Given the description of an element on the screen output the (x, y) to click on. 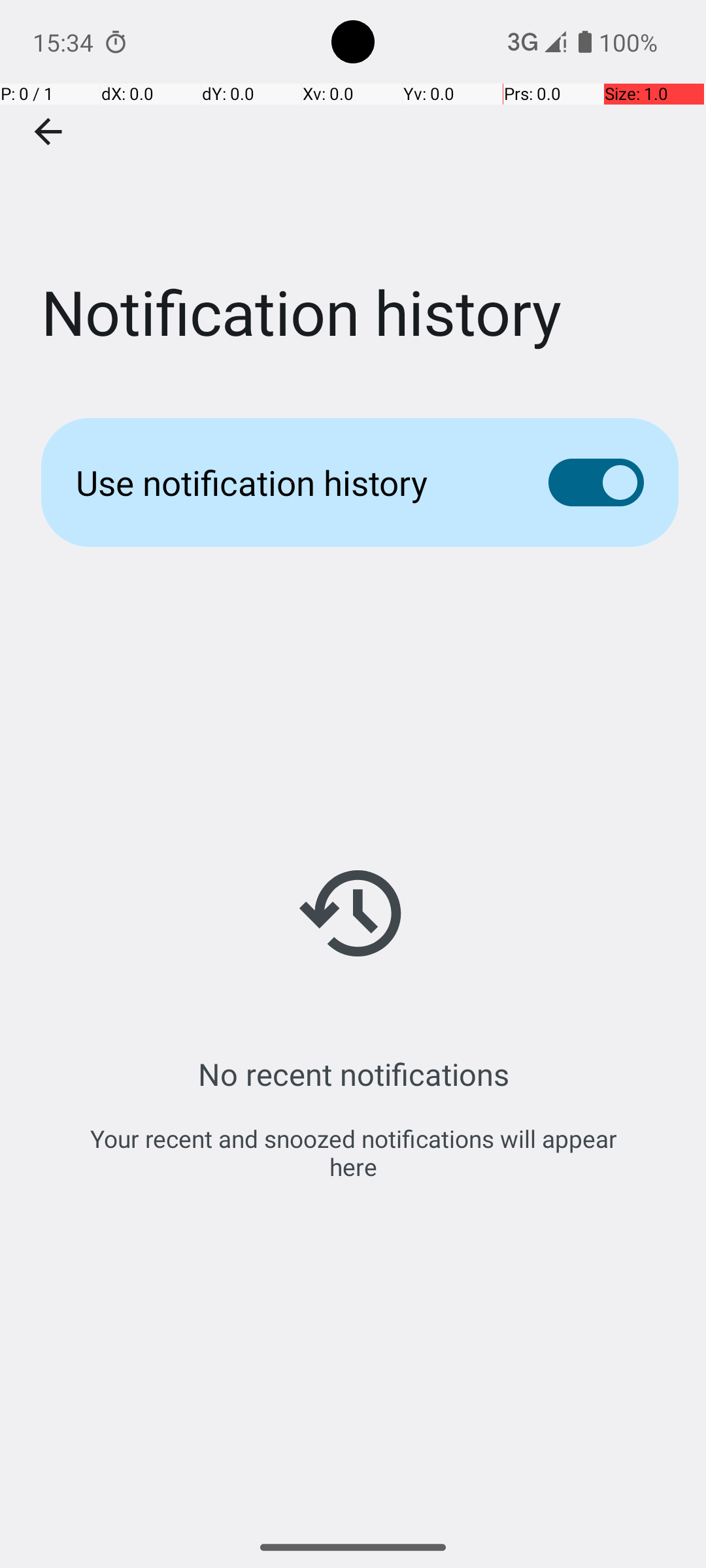
No recent notifications Element type: android.widget.TextView (352, 1073)
Your recent and snoozed notifications will appear here Element type: android.widget.TextView (352, 1152)
Use notification history Element type: android.widget.TextView (291, 482)
